Given the description of an element on the screen output the (x, y) to click on. 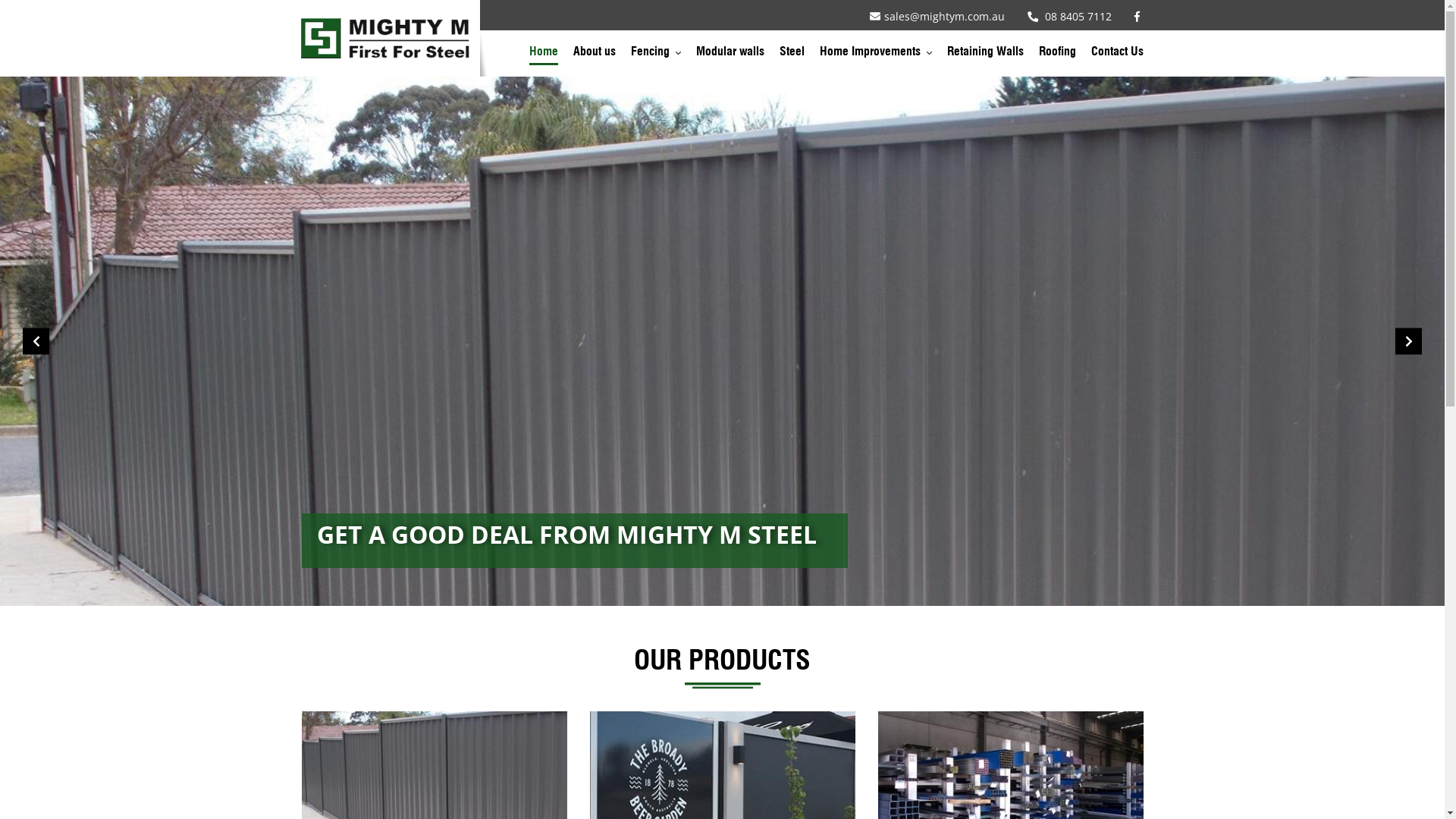
Roofing Element type: text (1057, 55)
08 8405 7112 Element type: text (1068, 16)
Steel Element type: text (791, 55)
fencing-banner Element type: hover (722, 341)
Fencing Element type: text (655, 55)
Contact Us Element type: text (1116, 55)
Modular walls Element type: text (730, 55)
Home Element type: text (543, 55)
Home Improvements Element type: text (875, 55)
About us Element type: text (594, 55)
sales@mightym.com.au Element type: text (936, 16)
Retaining Walls Element type: text (984, 55)
